Given the description of an element on the screen output the (x, y) to click on. 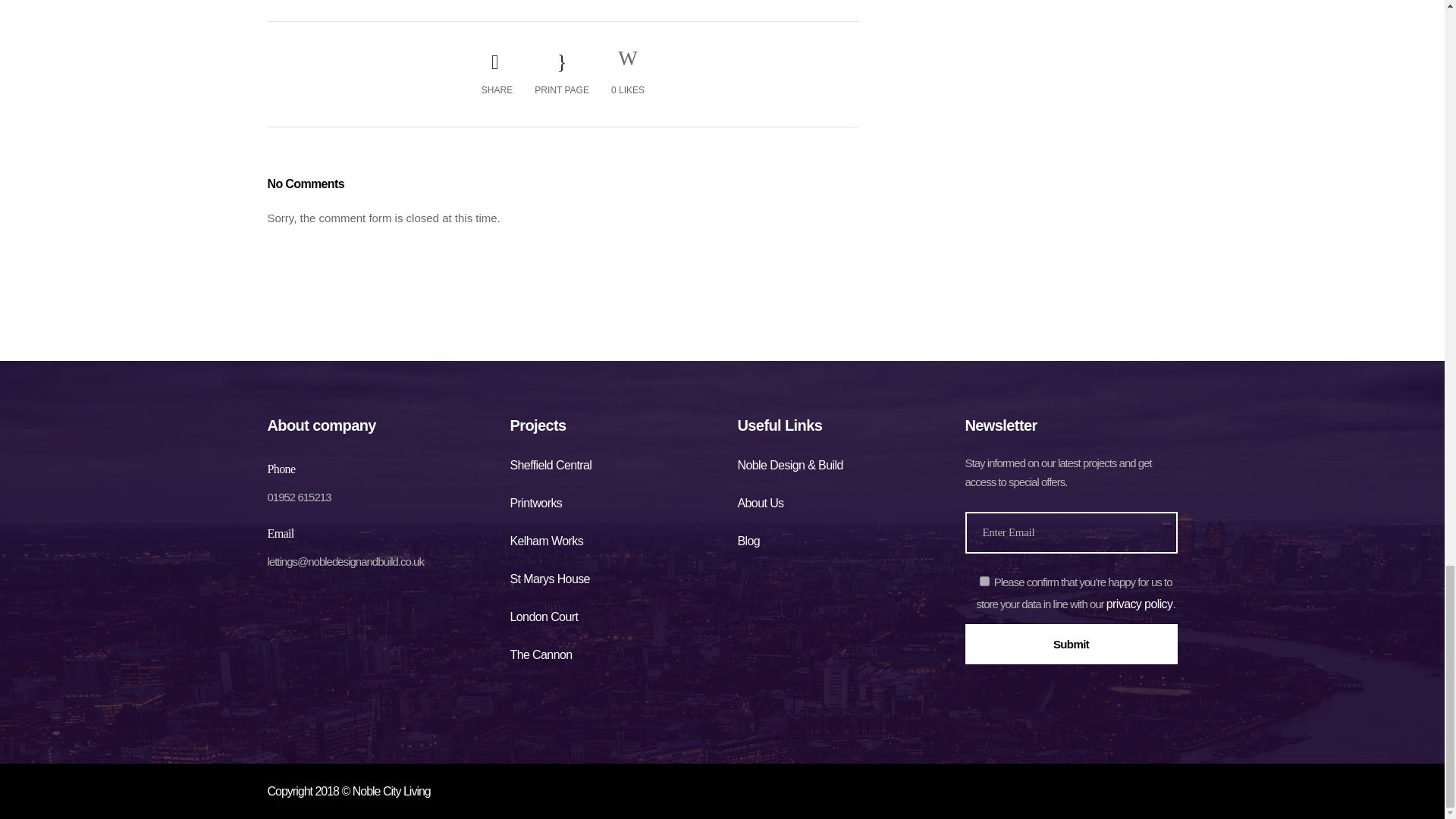
Submit (1069, 644)
PRINT PAGE (561, 73)
1 (984, 581)
